Given the description of an element on the screen output the (x, y) to click on. 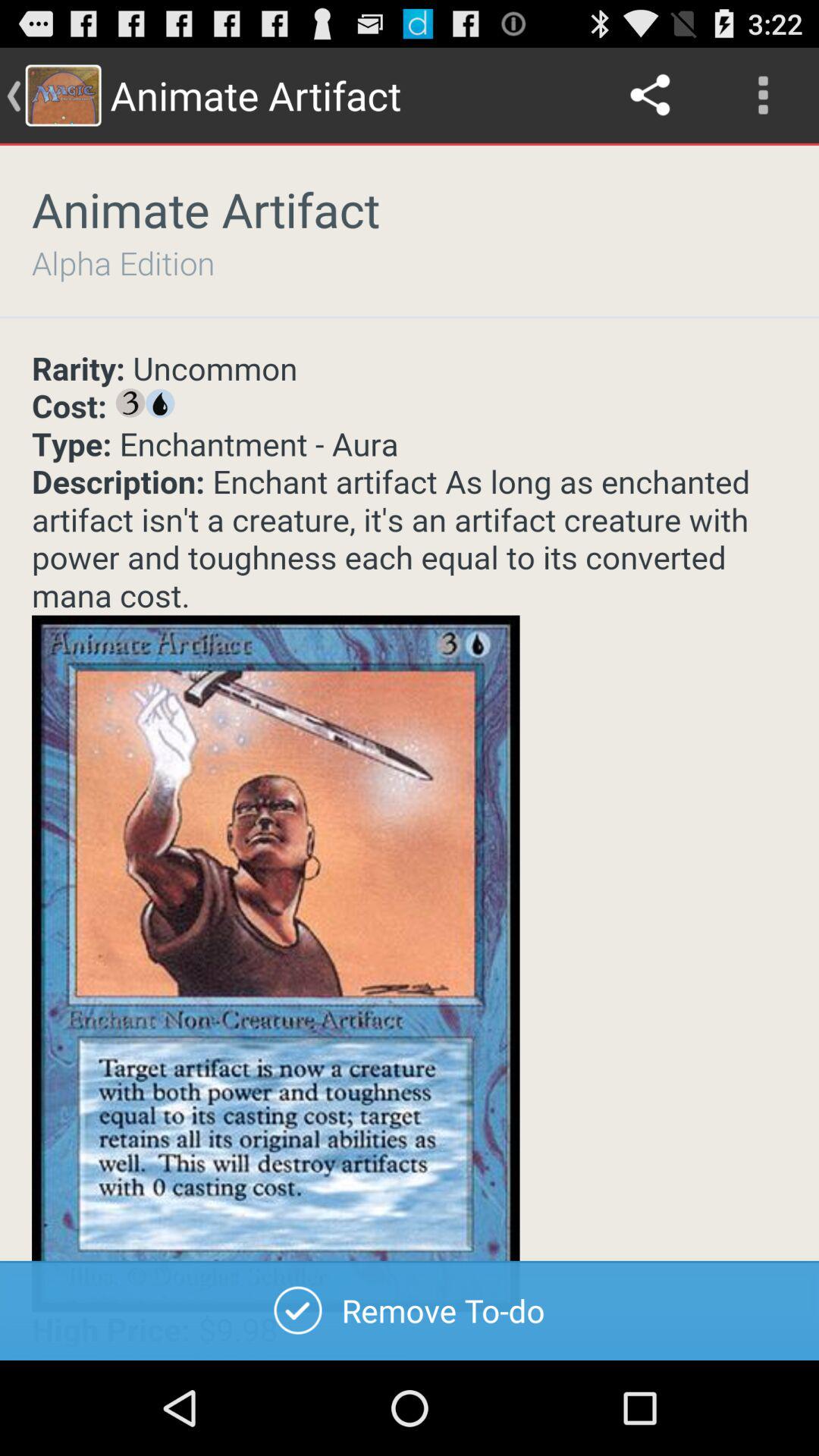
click to choose card (409, 855)
